Given the description of an element on the screen output the (x, y) to click on. 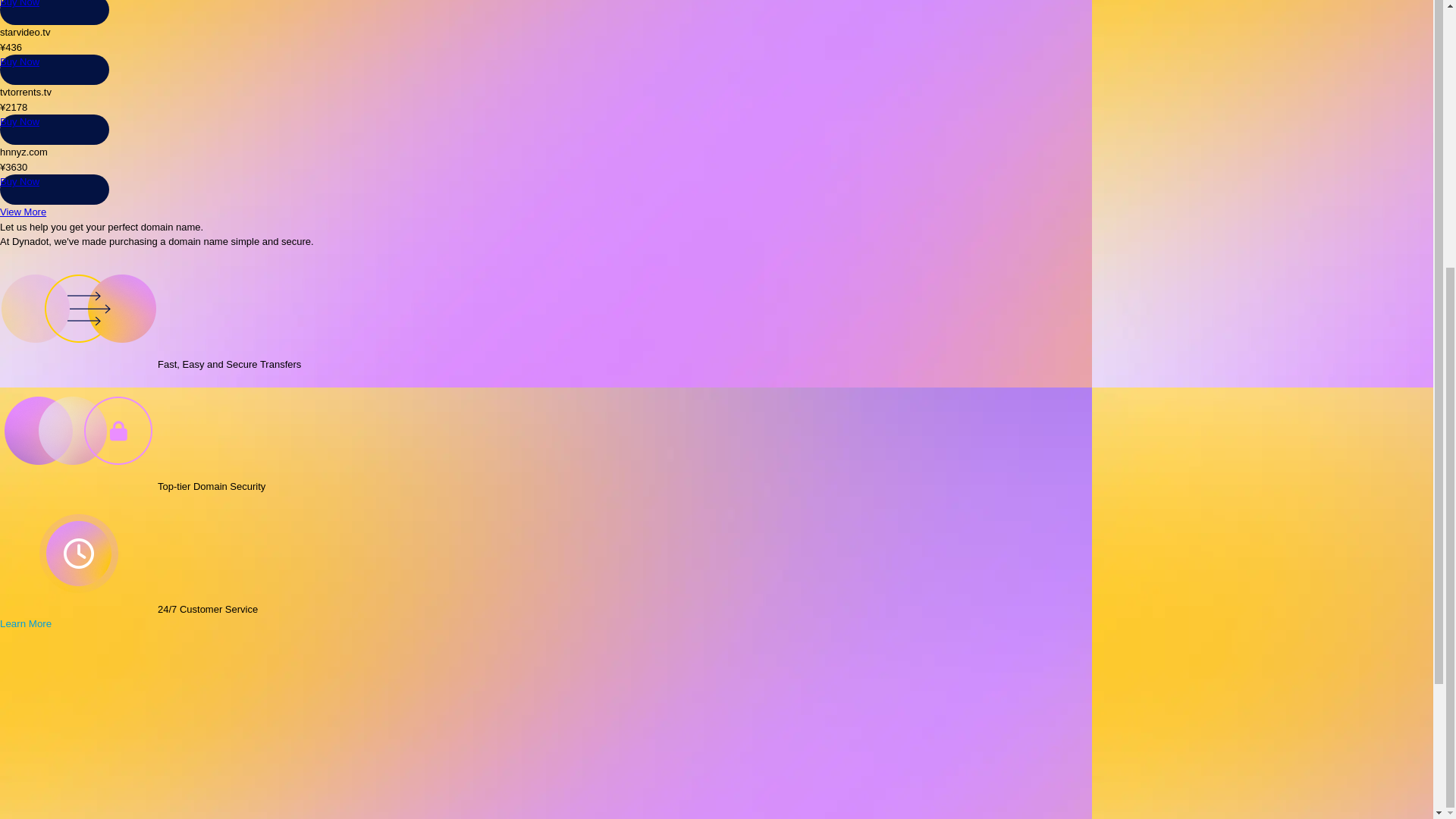
View More (23, 211)
Buy Now (19, 61)
Learn More (32, 623)
Buy Now (19, 121)
Buy Now (19, 3)
Buy Now (19, 181)
